Given the description of an element on the screen output the (x, y) to click on. 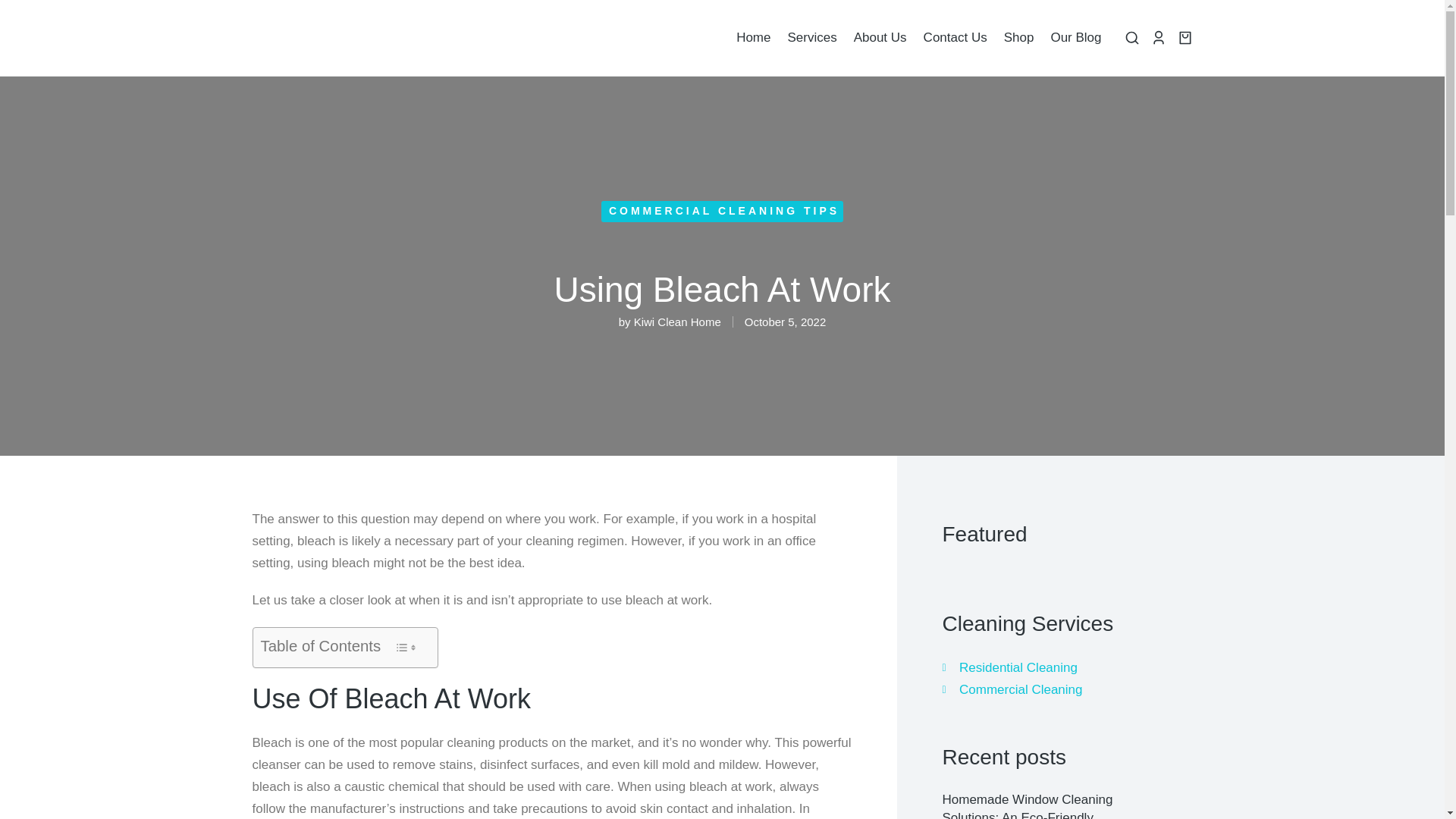
COMMERCIAL CLEANING TIPS (724, 210)
Contact Us (954, 38)
About Us (879, 38)
